Given the description of an element on the screen output the (x, y) to click on. 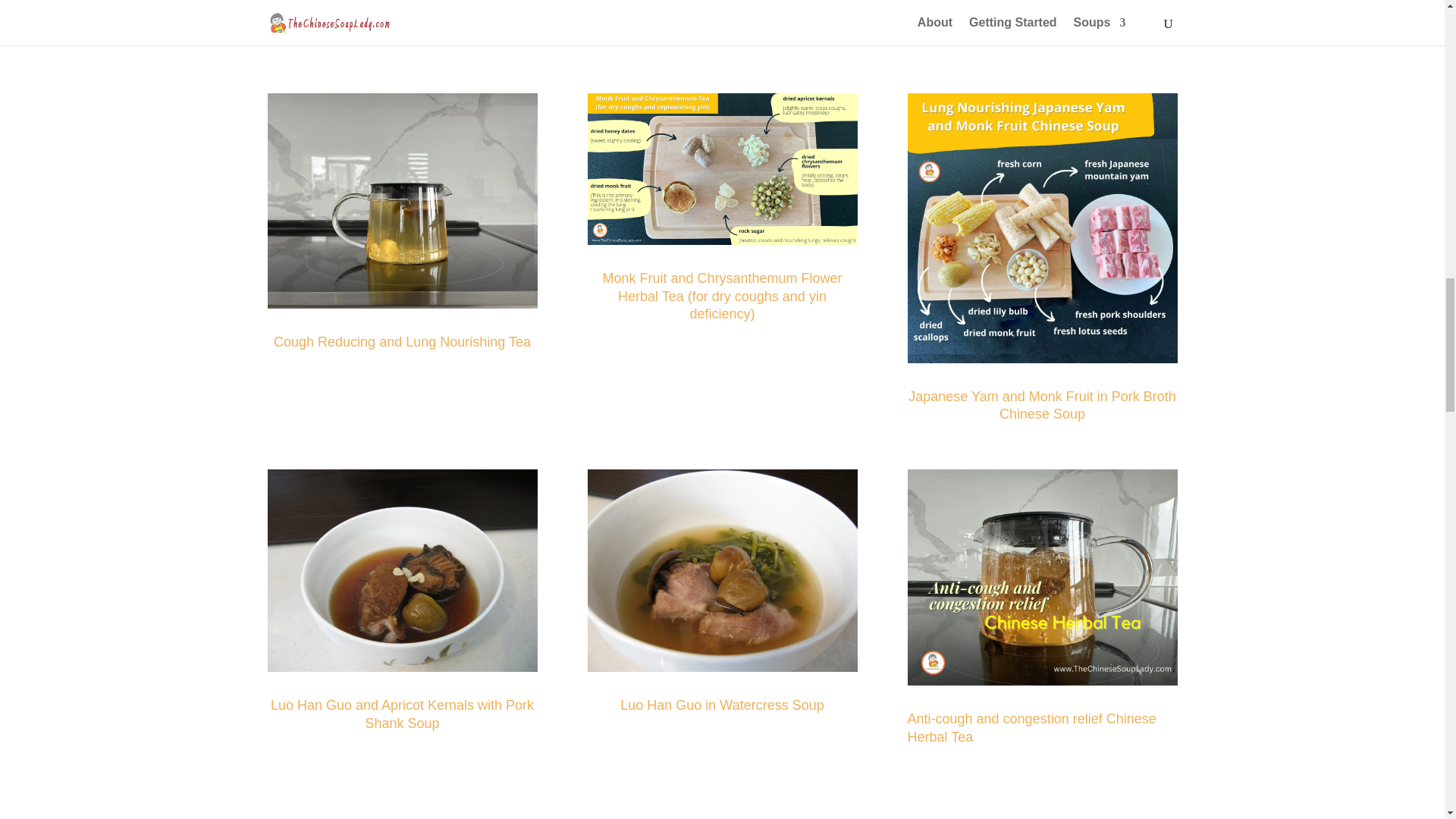
Lung Nourishing Japanese Yam and Monk Fruit Chinese Soup (1041, 228)
Cough Reducing and Lung Nourishing Tea (402, 341)
Japanese Yam and Monk Fruit in Pork Broth Chinese Soup (1042, 405)
cough and congestion relief tea (1041, 577)
Cough Reduce and Lung Nourishing Tea 02 (401, 201)
Luo Han Guo and Apricot Kernals with Pork Shank Soup (402, 714)
Anti-cough and congestion relief Chinese Herbal Tea (1031, 727)
Luo Han Guo in Watercress Soup (722, 704)
